Given the description of an element on the screen output the (x, y) to click on. 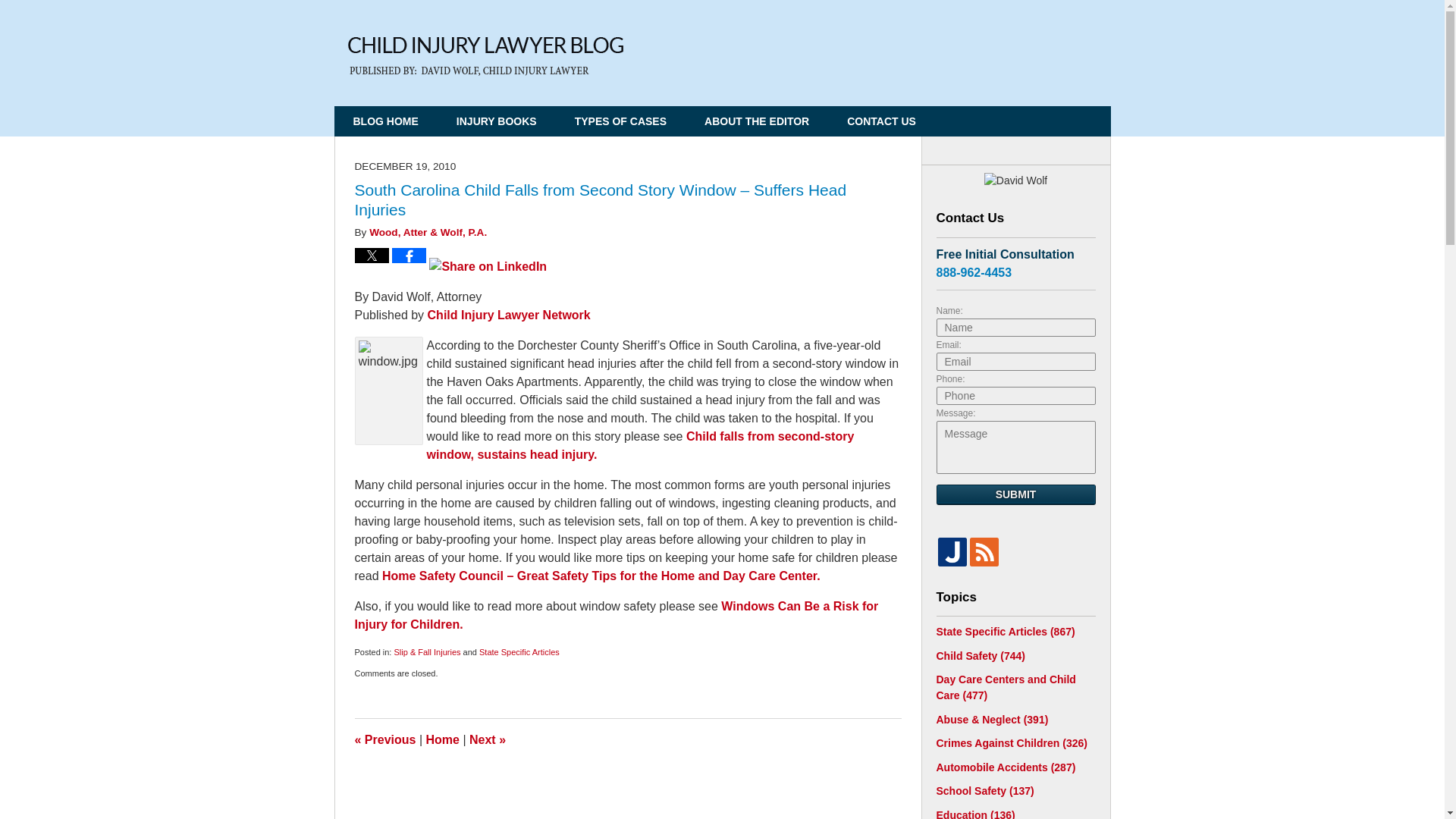
Child Injury Lawyer Network (509, 314)
Feed (983, 551)
Home (443, 739)
Child Injury Lawyer Blog (485, 56)
Justia (952, 551)
SUBMIT (1015, 494)
CONTACT US (881, 121)
Windows Can Be a Risk for Injury for Children. (617, 614)
INJURY BOOKS (497, 121)
ABOUT THE EDITOR (756, 121)
BLOG HOME (384, 121)
Published By Child Injury Lawyer Network (1007, 47)
TYPES OF CASES (620, 121)
View all posts in State Specific Articles (519, 651)
State Specific Articles (519, 651)
